Given the description of an element on the screen output the (x, y) to click on. 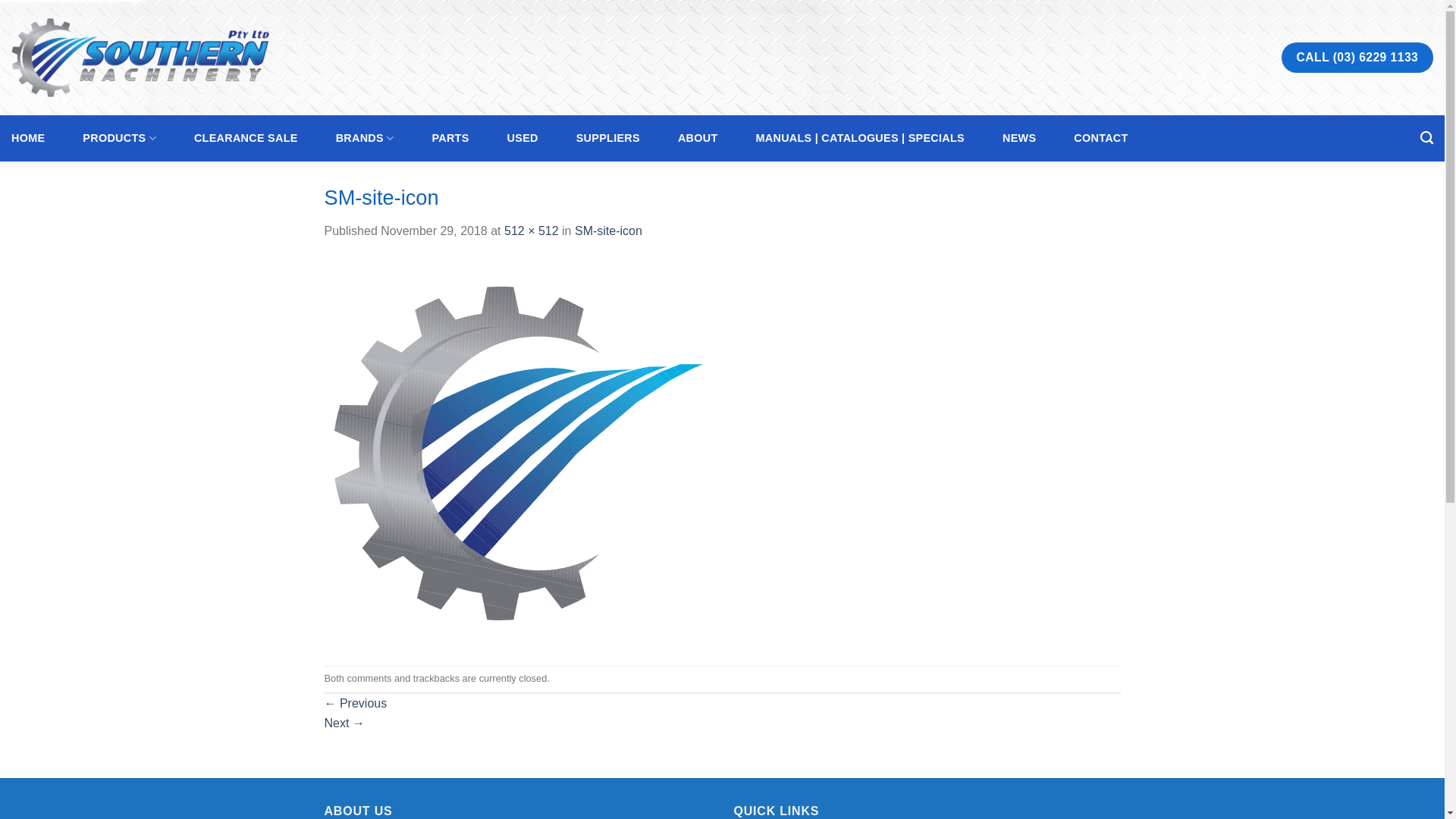
SUPPLIERS Element type: text (608, 138)
CONTACT Element type: text (1100, 138)
PRODUCTS Element type: text (119, 138)
NEWS Element type: text (1018, 138)
CALL (03) 6229 1133 Element type: text (1357, 57)
ABOUT Element type: text (697, 138)
CLEARANCE SALE Element type: text (246, 138)
SM-site-icon Element type: hover (518, 451)
SM-site-icon Element type: text (608, 230)
BRANDS Element type: text (364, 138)
USED Element type: text (522, 138)
PARTS Element type: text (449, 138)
MANUALS | CATALOGUES | SPECIALS Element type: text (859, 138)
HOME Element type: text (27, 138)
